Given the description of an element on the screen output the (x, y) to click on. 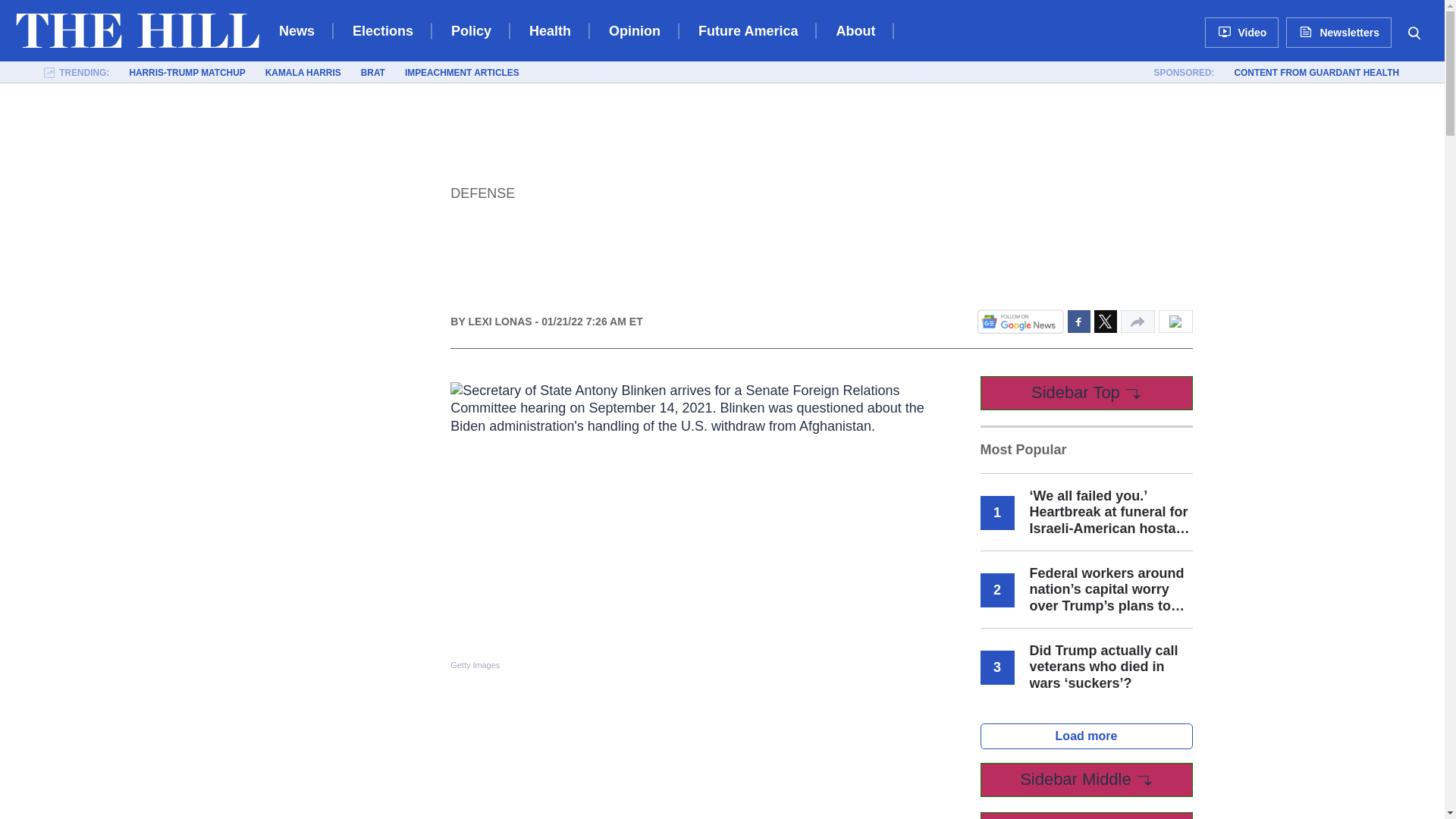
Elections (382, 30)
Opinion (634, 30)
Defense (482, 193)
Search (1414, 31)
Policy (471, 30)
News (296, 30)
Health (549, 30)
